Given the description of an element on the screen output the (x, y) to click on. 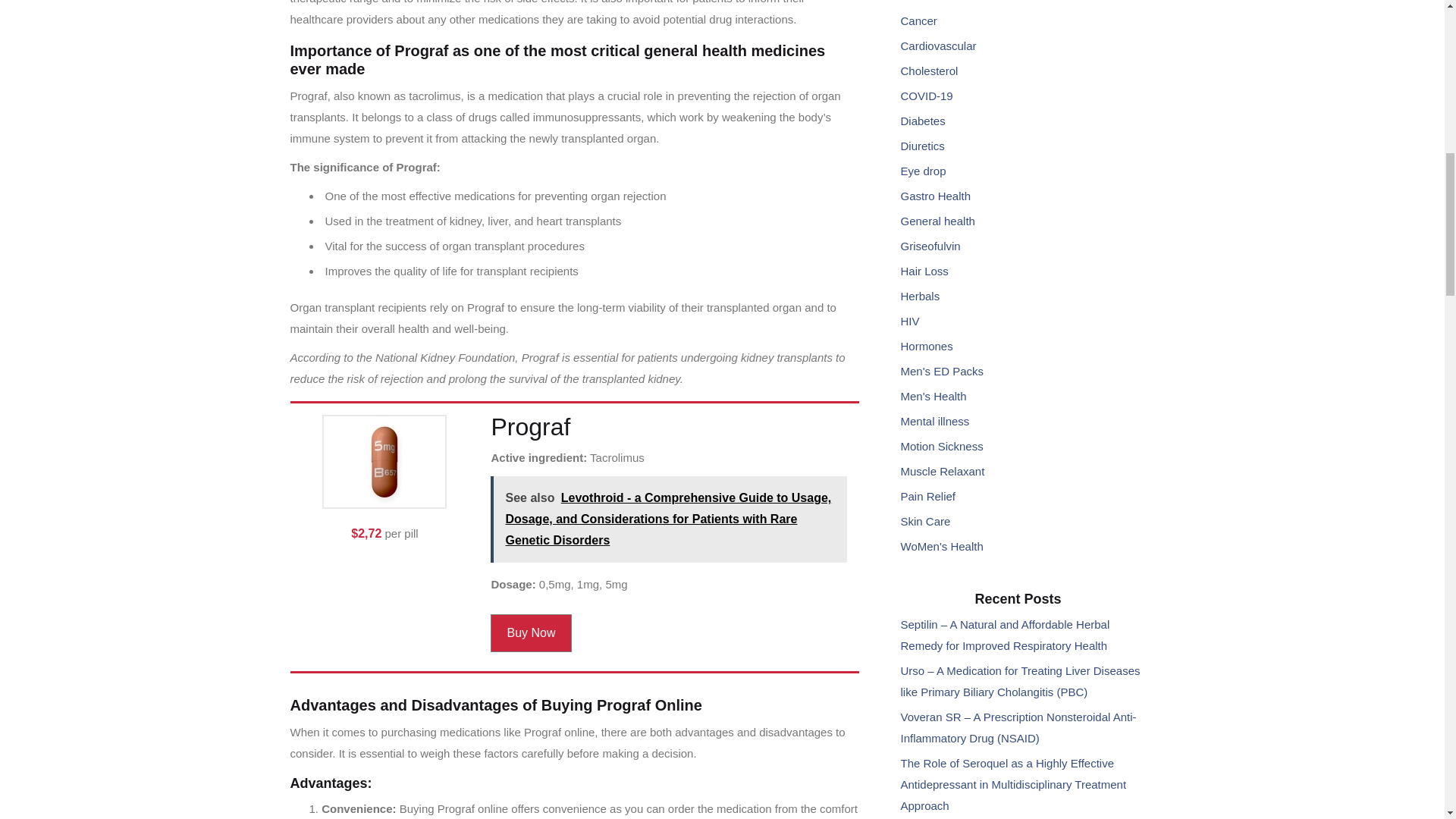
Gastro Health (936, 195)
COVID-19 (927, 95)
Cardiovascular (938, 45)
Eye drop (923, 170)
Cholesterol (929, 70)
Blood Pressure (939, 1)
Buy Now (530, 632)
Cancer (919, 20)
Diuretics (922, 145)
Diabetes (922, 120)
